Given the description of an element on the screen output the (x, y) to click on. 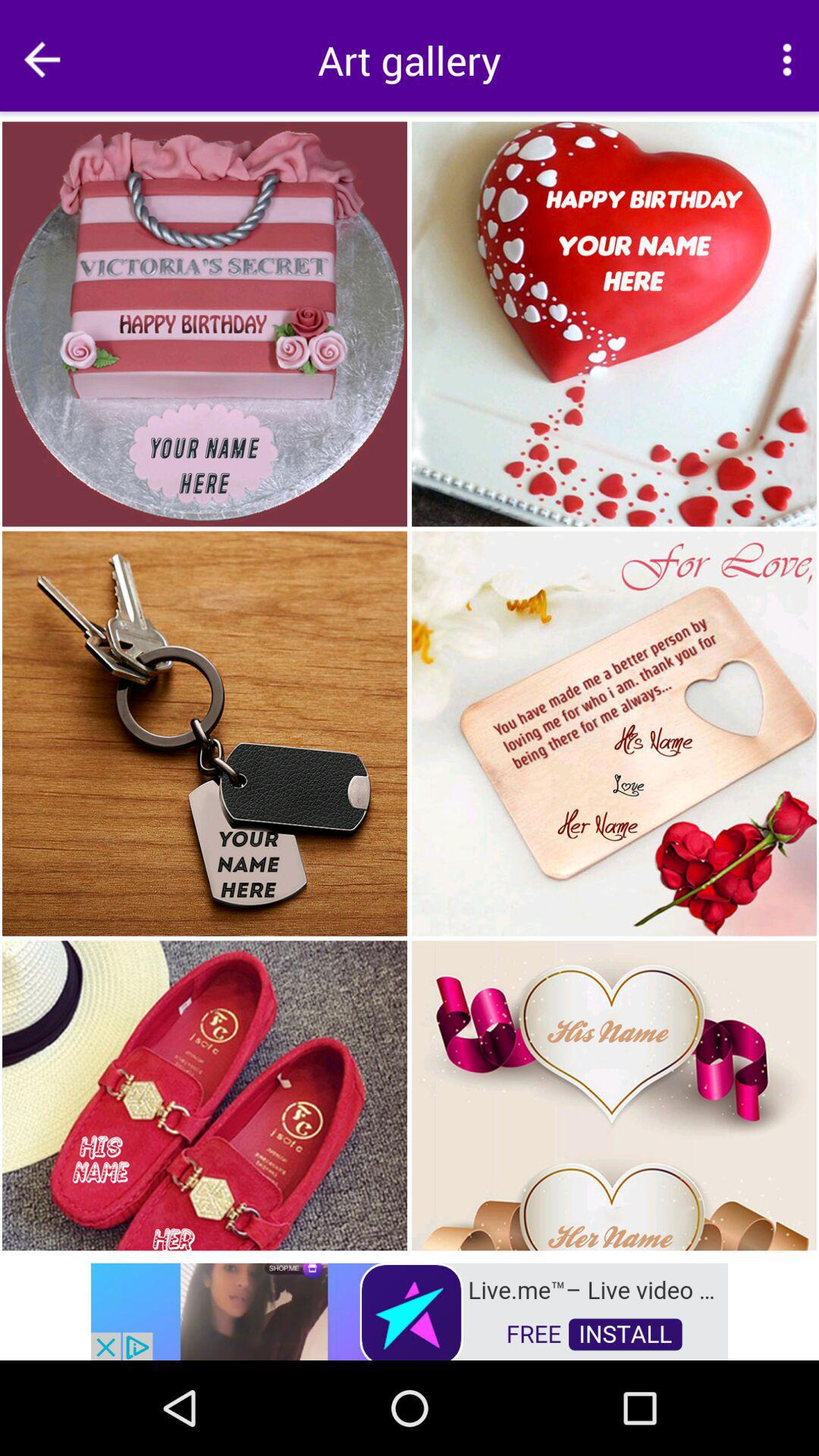
more options (787, 59)
